Given the description of an element on the screen output the (x, y) to click on. 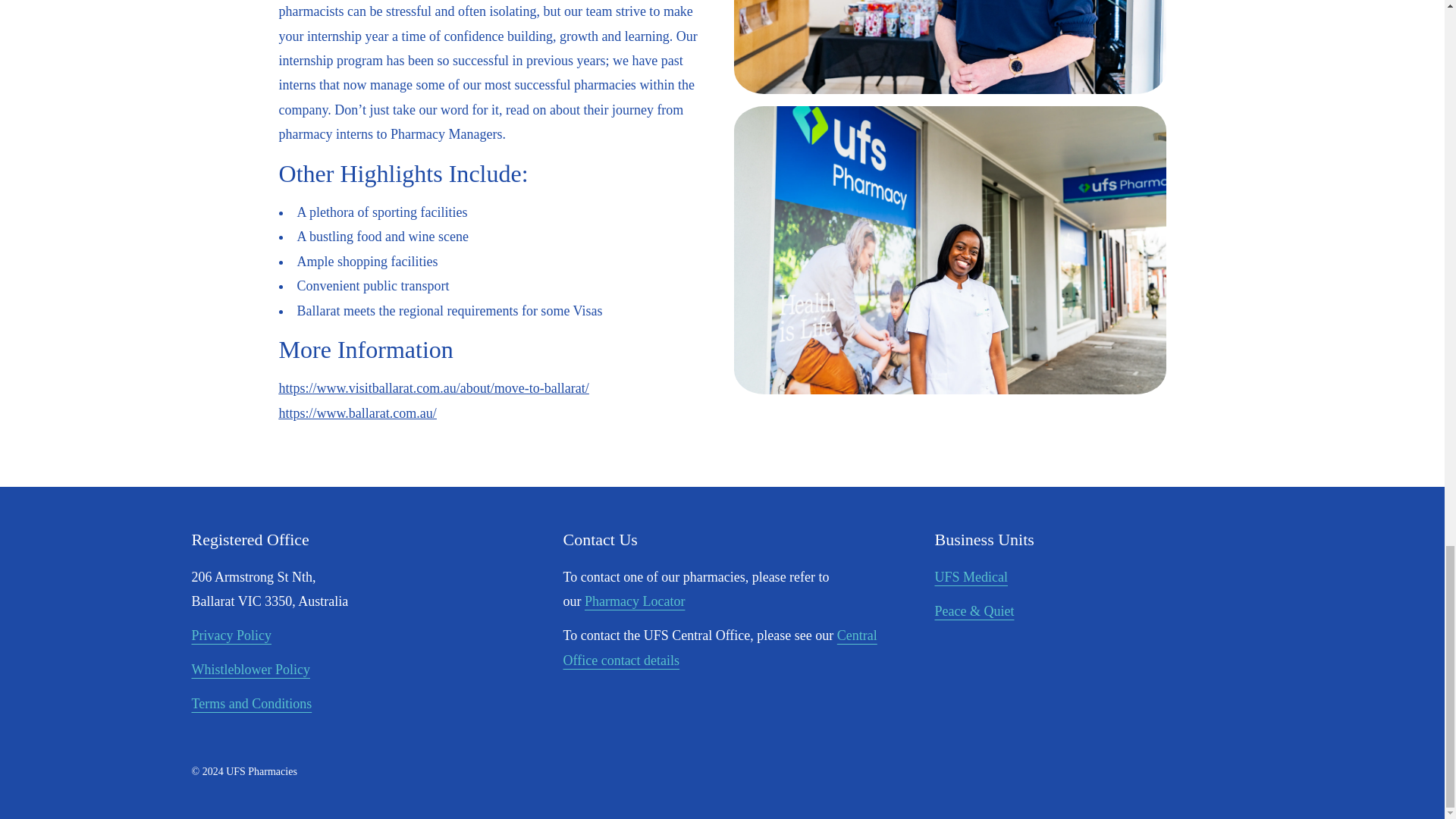
Pharmacy Directory (634, 601)
Privacy Policy (230, 635)
Contact us (719, 647)
Terms and Conditions (250, 703)
Whistleblower Policy (249, 669)
